Given the description of an element on the screen output the (x, y) to click on. 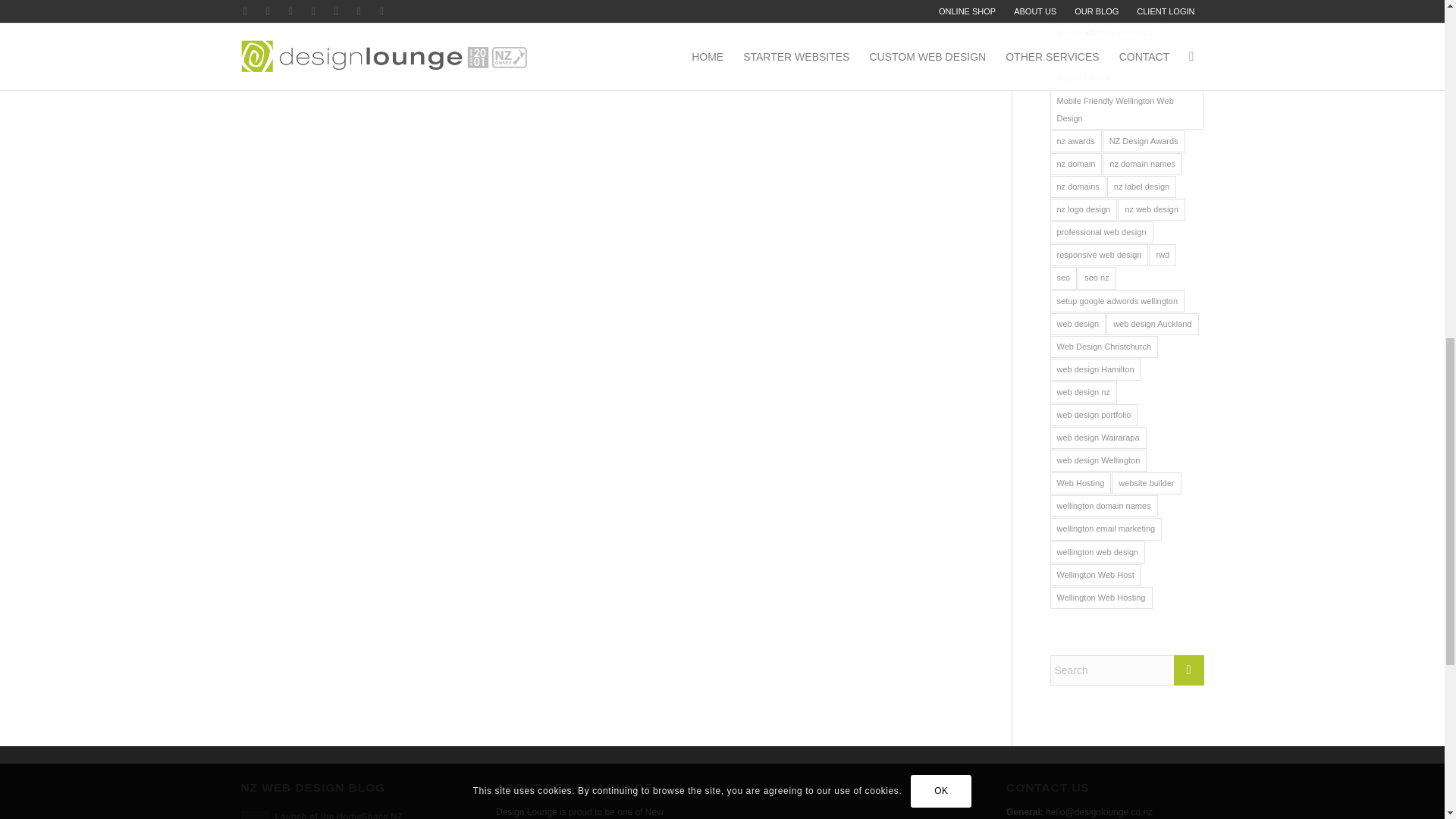
Click to start search (1188, 670)
